Given the description of an element on the screen output the (x, y) to click on. 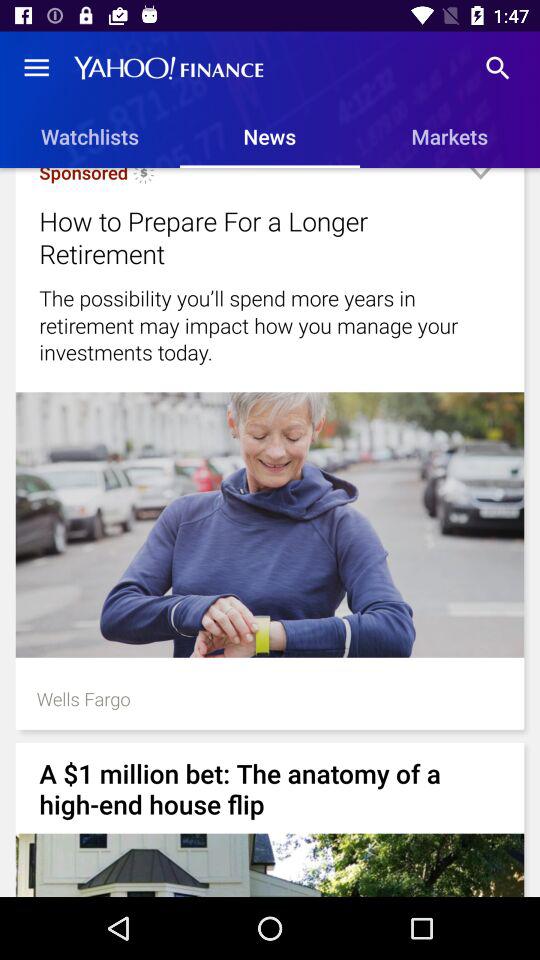
select the first image on the web page (269, 524)
